Given the description of an element on the screen output the (x, y) to click on. 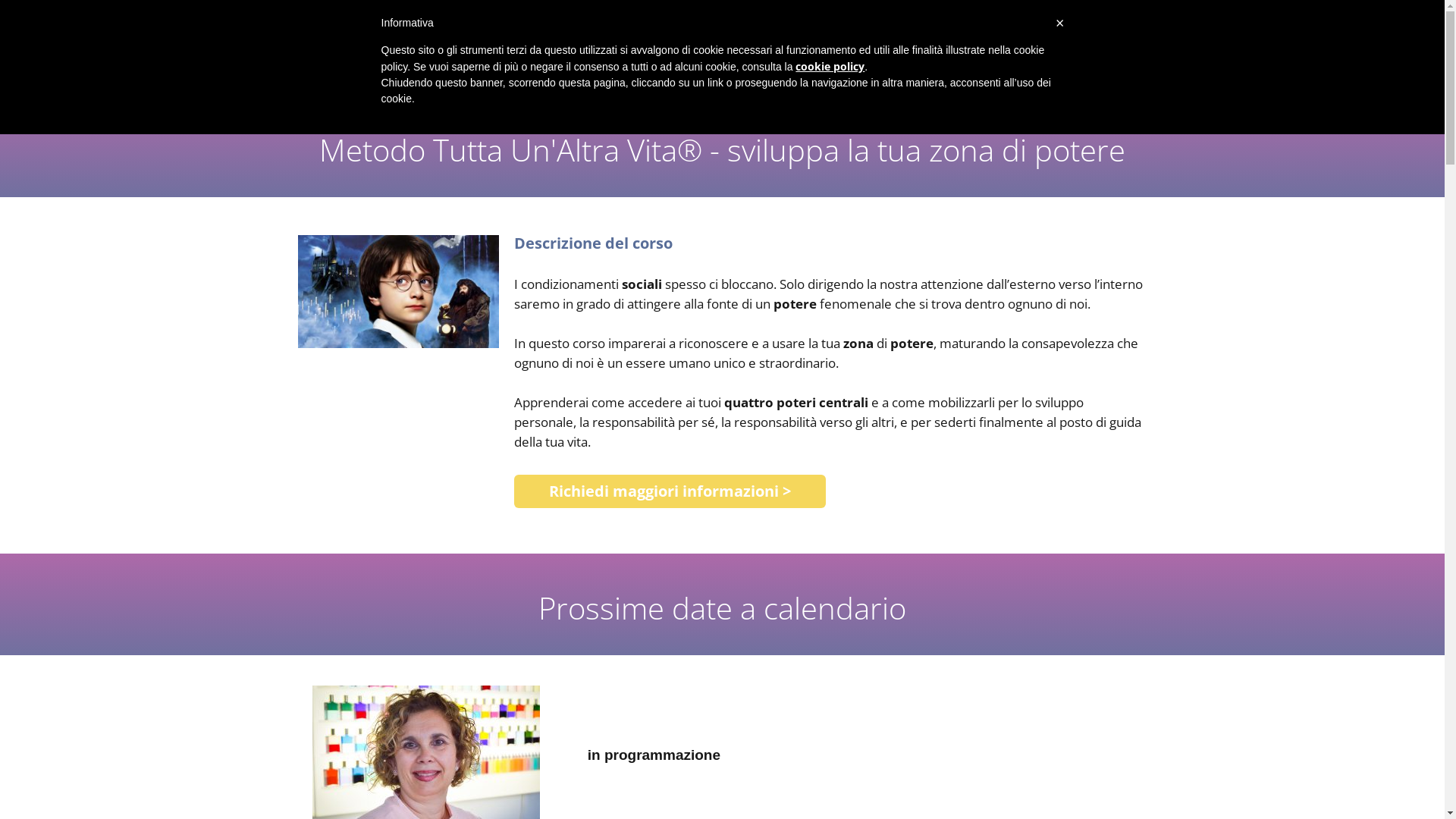
Araba Fenice Element type: hover (391, 46)
COACHING Element type: text (840, 49)
RISORSE Element type: text (903, 49)
DIAITABLOG Element type: text (1045, 49)
cookie policy Element type: text (829, 66)
Richiedi maggiori informazioni > Element type: text (669, 491)
PERCORSI Element type: text (969, 49)
CONTATTI Element type: text (1114, 49)
CHI SONO Element type: text (775, 49)
